Given the description of an element on the screen output the (x, y) to click on. 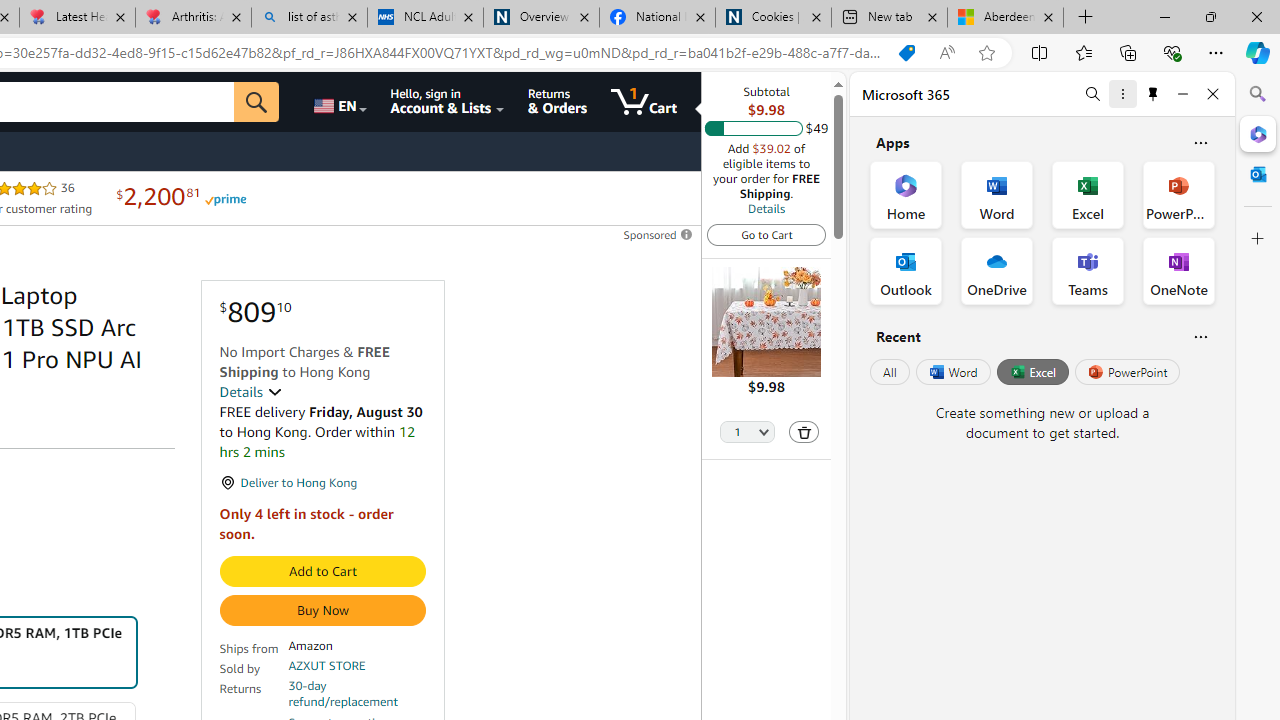
PowerPoint Office App (1178, 194)
Delete (803, 431)
OneNote Office App (1178, 270)
Go to Cart (766, 234)
OneDrive Office App (996, 270)
Is this helpful? (1200, 336)
Home Office App (906, 194)
